Given the description of an element on the screen output the (x, y) to click on. 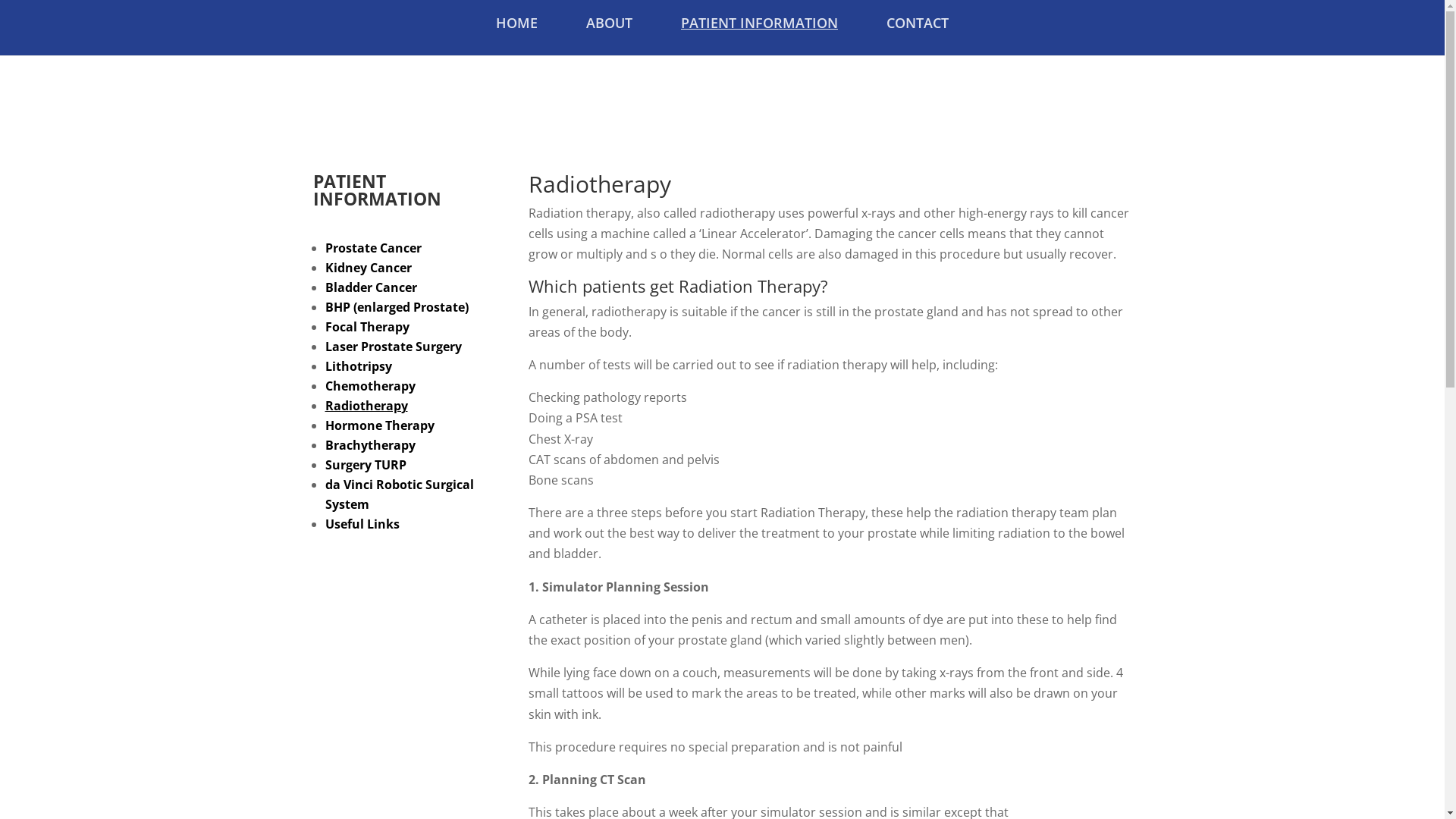
Focal Therapy Element type: text (366, 326)
PATIENT INFORMATION Element type: text (758, 36)
Laser Prostate Surgery Element type: text (392, 346)
BHP (enlarged Prostate) Element type: text (395, 306)
Brachytherapy Element type: text (369, 444)
Hormone Therapy Element type: text (378, 425)
Bladder Cancer Element type: text (370, 287)
Surgery TURP Element type: text (364, 464)
Radiotherapy Element type: text (365, 405)
CONTACT Element type: text (917, 36)
HOME Element type: text (516, 36)
Prostate Cancer Element type: text (372, 247)
Chemotherapy Element type: text (369, 385)
Lithotripsy Element type: text (357, 365)
da Vinci Robotic Surgical System Element type: text (398, 494)
ABOUT Element type: text (609, 36)
Kidney Cancer Element type: text (367, 267)
Useful Links Element type: text (361, 523)
